Given the description of an element on the screen output the (x, y) to click on. 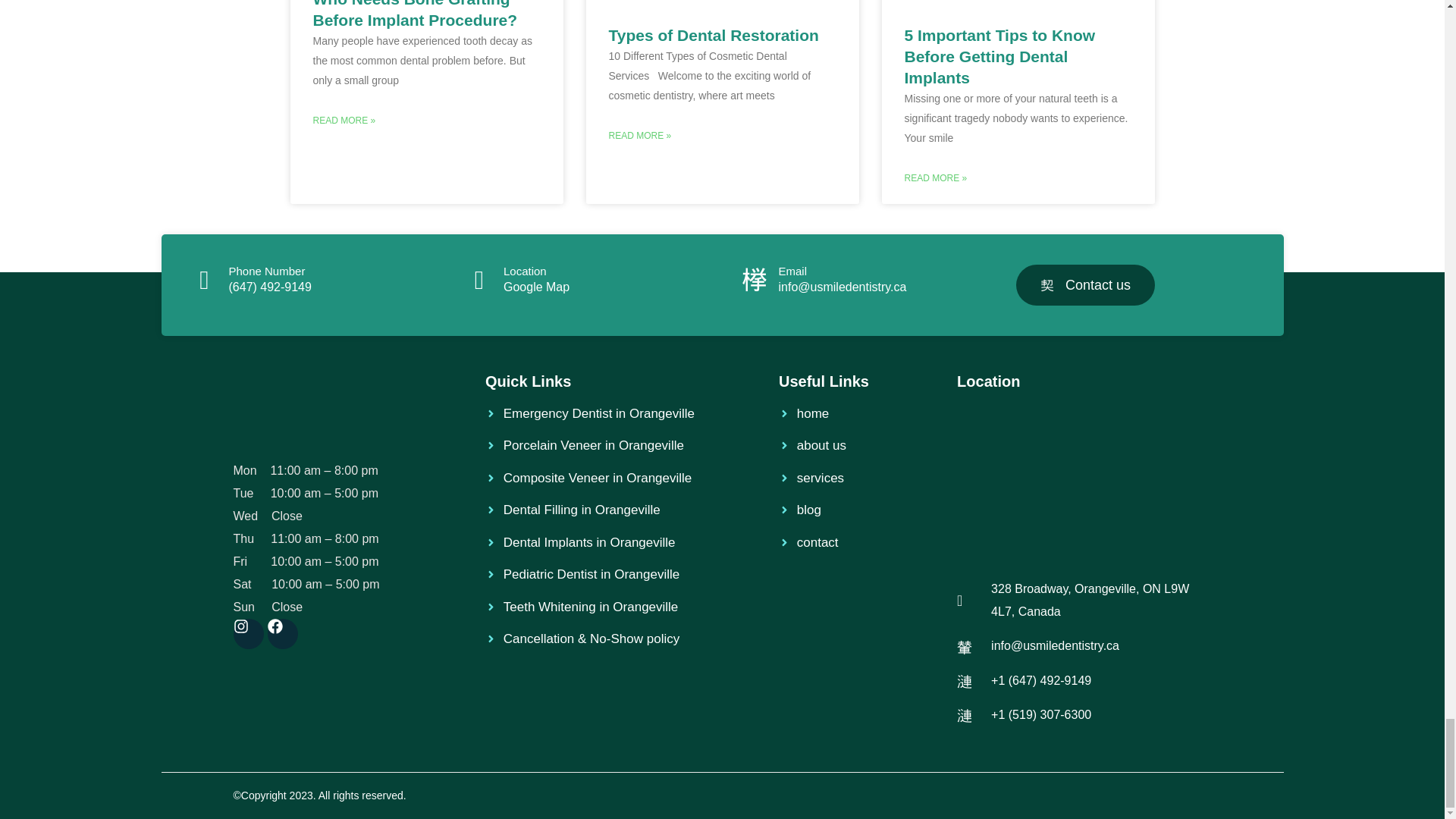
location of usmiledentistry (1083, 480)
